Given the description of an element on the screen output the (x, y) to click on. 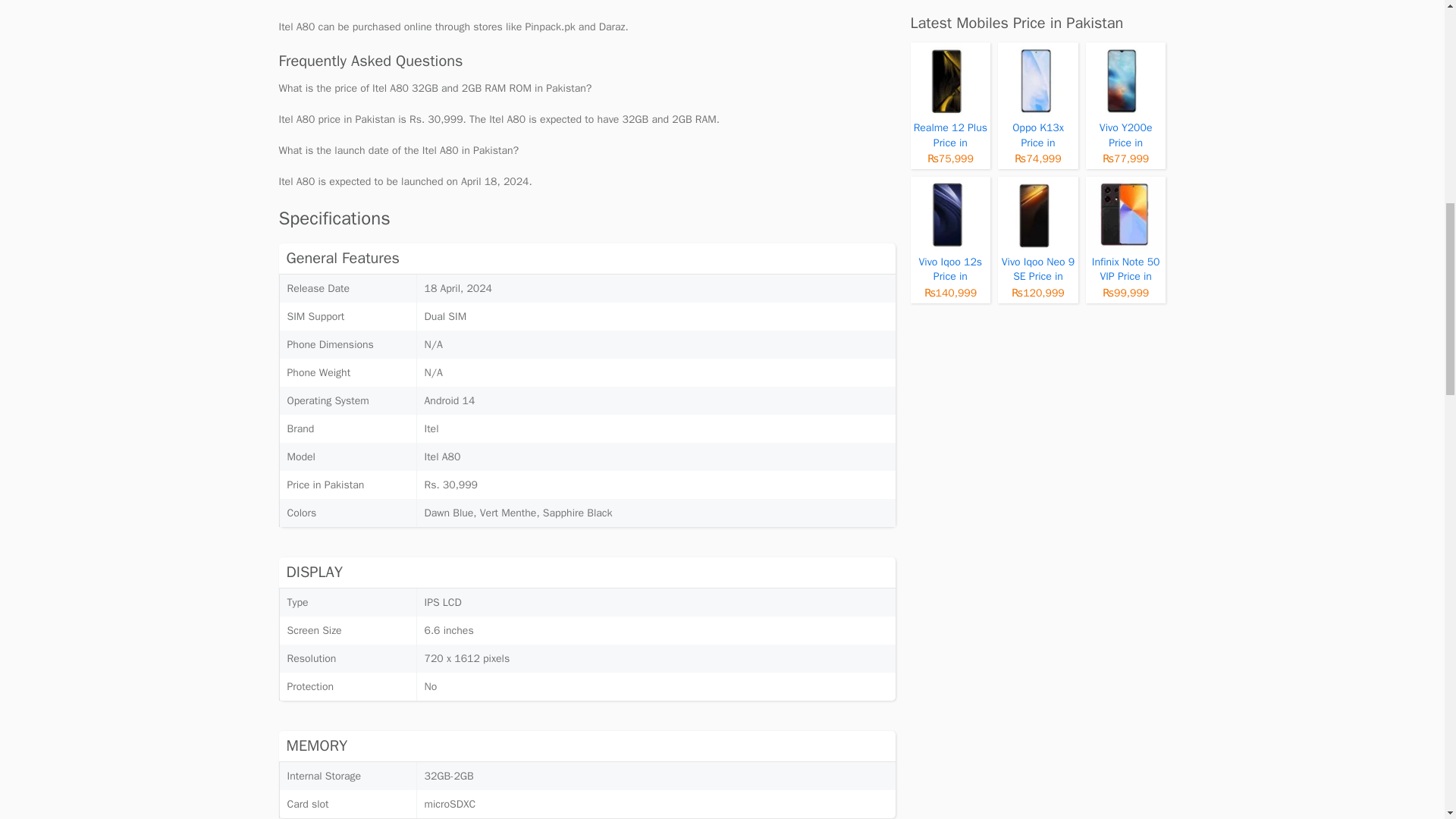
Scroll back to top (1406, 720)
